Given the description of an element on the screen output the (x, y) to click on. 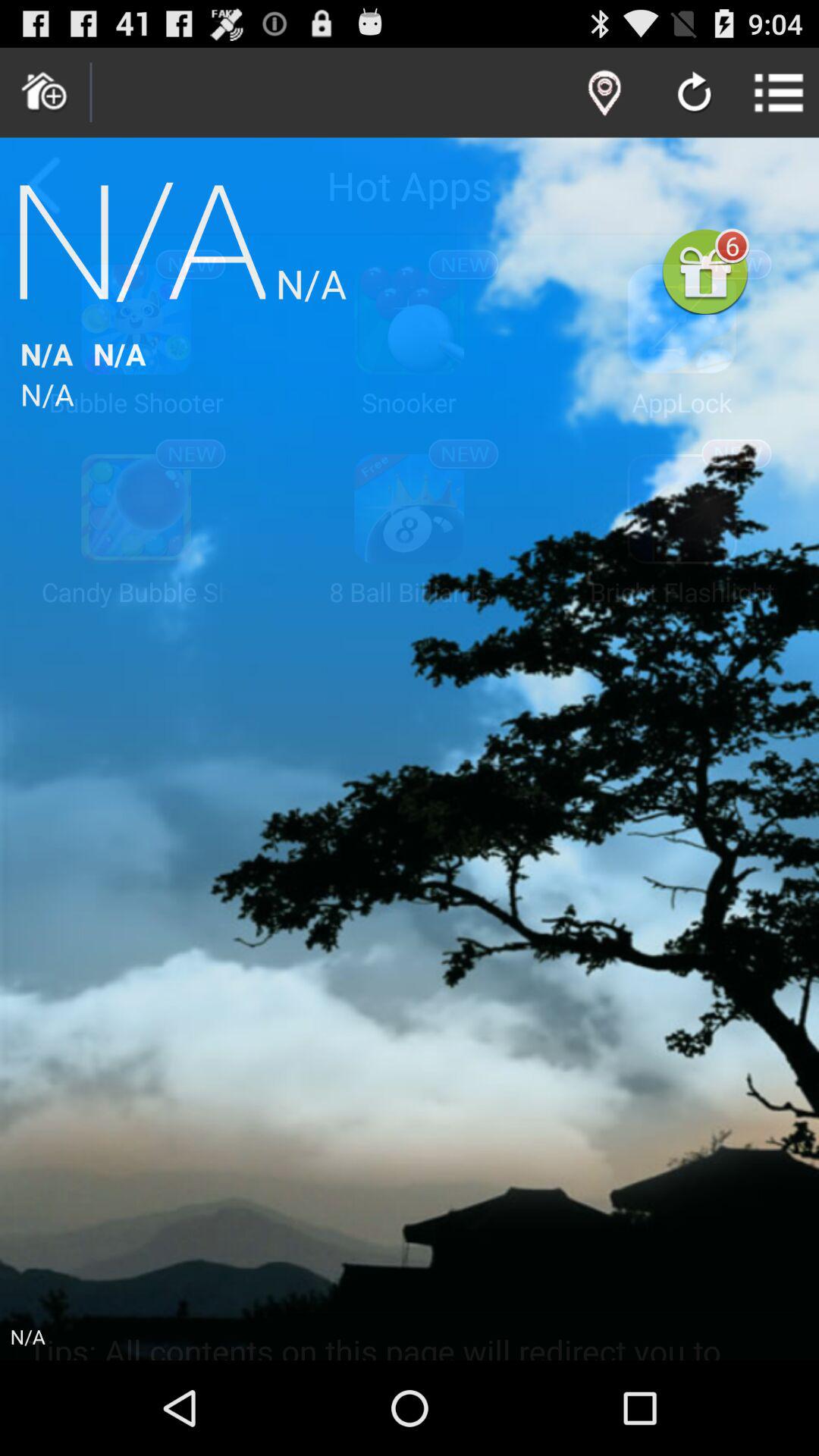
view map (604, 92)
